Given the description of an element on the screen output the (x, y) to click on. 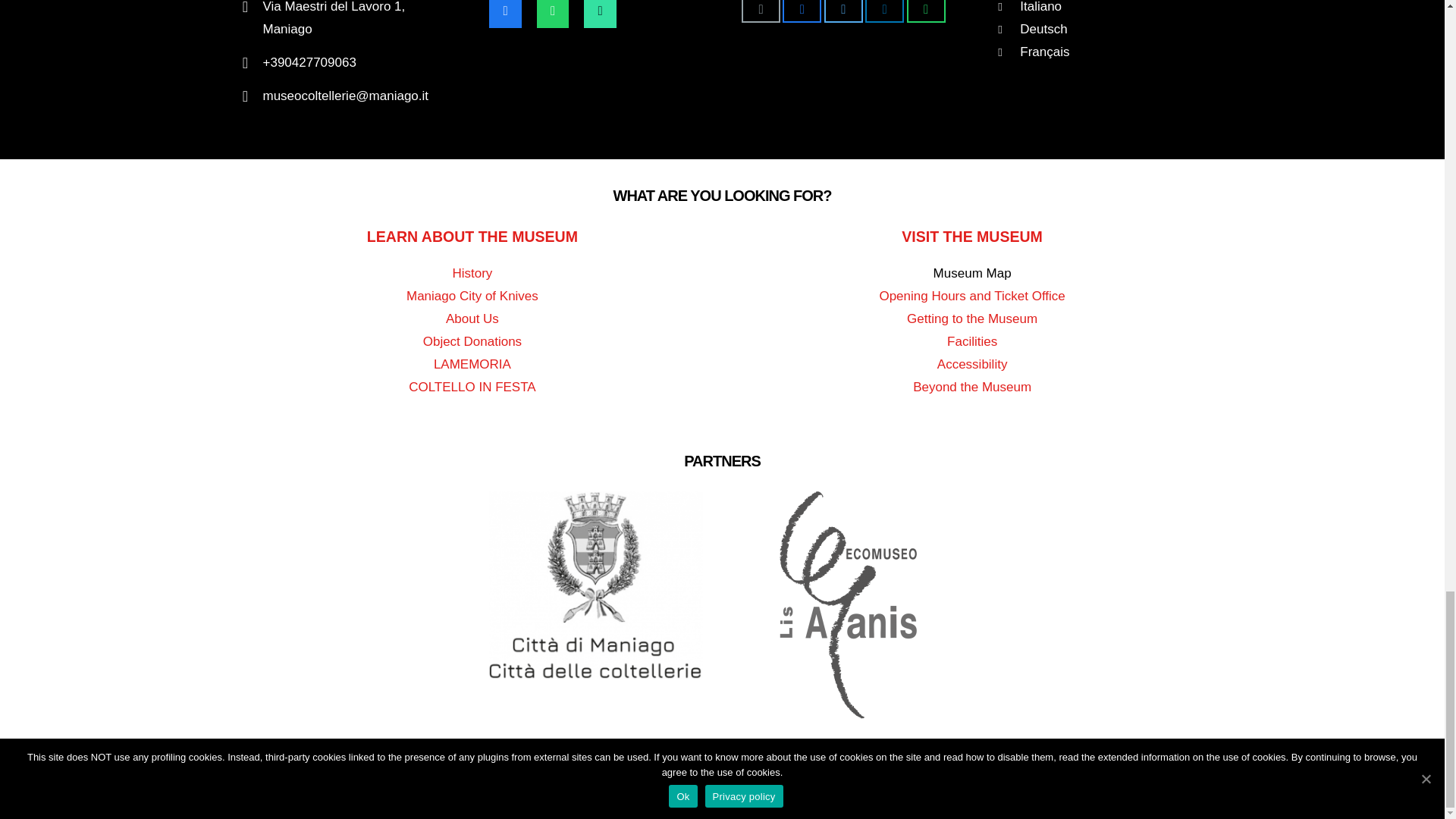
Opening Hours and Ticket Office (971, 296)
About Us (472, 318)
Email this (760, 11)
Maniago City of Knives (472, 296)
Deutsch (1043, 29)
History (471, 273)
Share this (802, 11)
Share this (925, 11)
Tripadvisor (599, 13)
COLTELLO IN FESTA (472, 386)
